Given the description of an element on the screen output the (x, y) to click on. 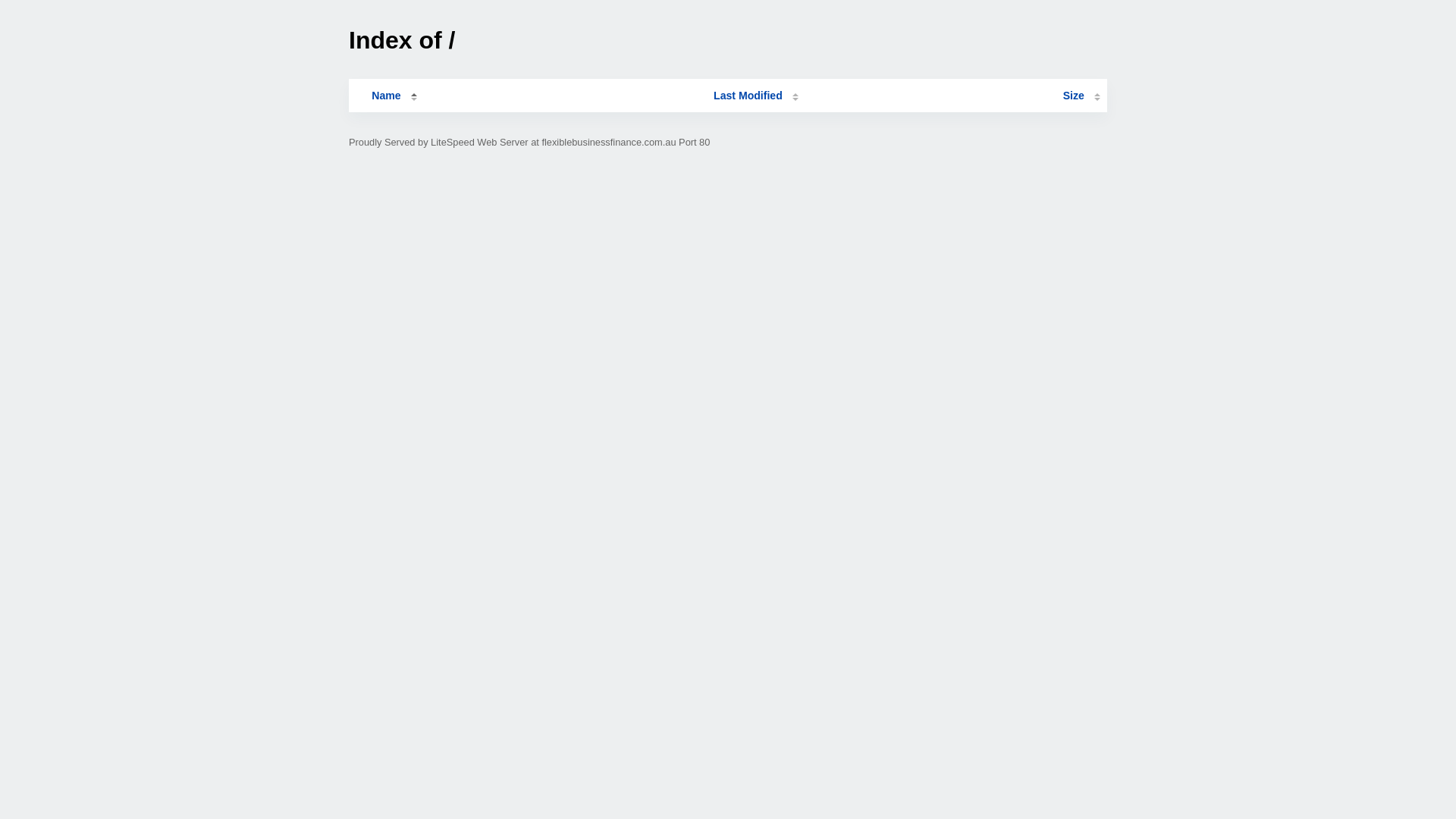
Size Element type: text (1081, 95)
Name Element type: text (385, 95)
Last Modified Element type: text (755, 95)
